Given the description of an element on the screen output the (x, y) to click on. 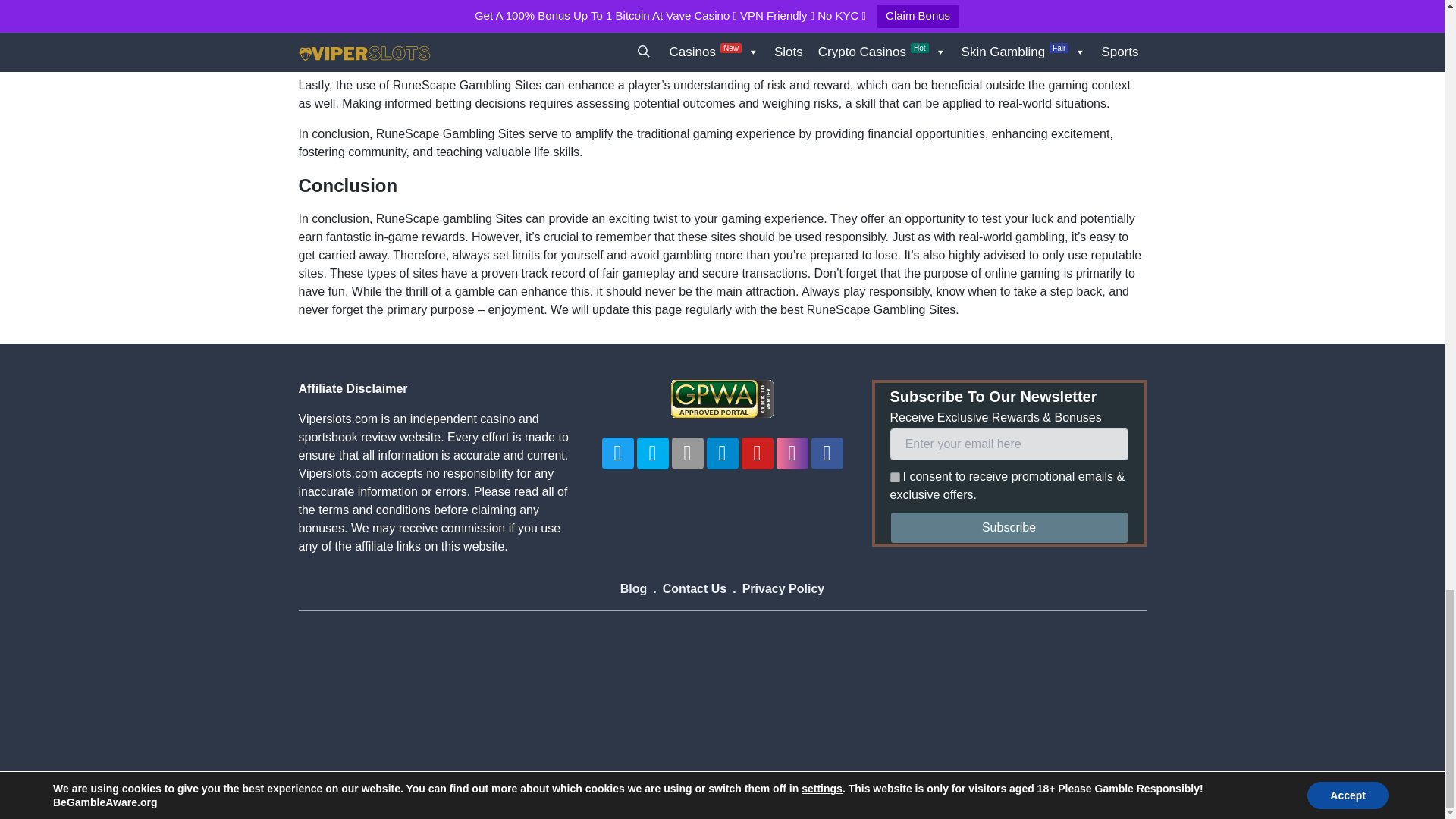
1 (894, 477)
Subscribe (1008, 527)
